Given the description of an element on the screen output the (x, y) to click on. 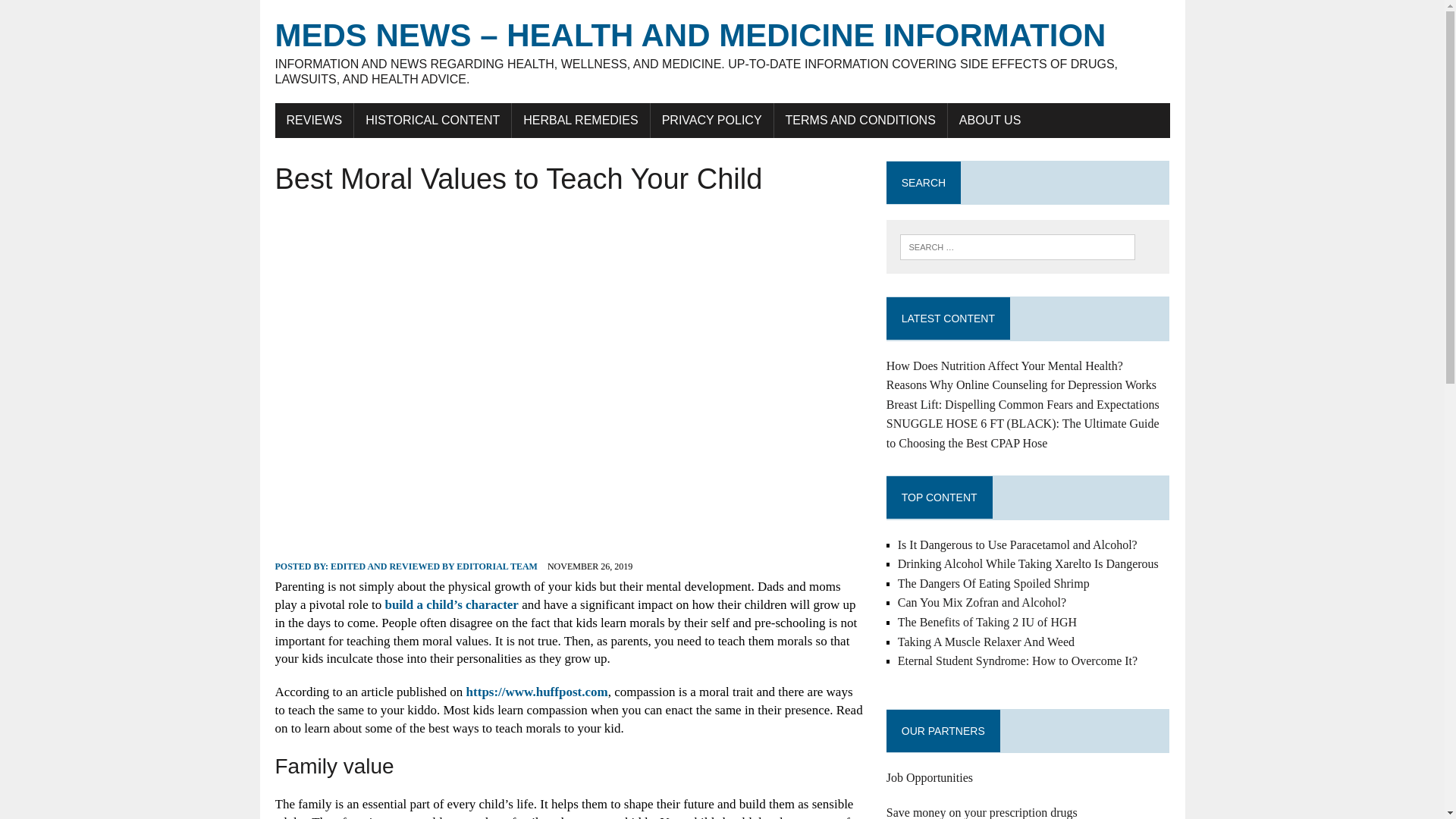
Reasons Why Online Counseling for Depression Works (1021, 384)
Save money on your prescription drugs (981, 812)
The Dangers Of Eating Spoiled Shrimp (993, 583)
Job Opportunities (929, 777)
The Benefits of Taking 2 IU of HGH (987, 621)
EDITED AND REVIEWED BY EDITORIAL TEAM (433, 566)
HERBAL REMEDIES (580, 120)
PRIVACY POLICY (711, 120)
Search (75, 14)
Is It Dangerous to Use Paracetamol and Alcohol? (1017, 544)
Can You Mix Zofran and Alcohol? (981, 602)
TERMS AND CONDITIONS (860, 120)
Eternal Student Syndrome: How to Overcome It? (1017, 660)
Taking A Muscle Relaxer And Weed (986, 641)
ABOUT US (989, 120)
